Given the description of an element on the screen output the (x, y) to click on. 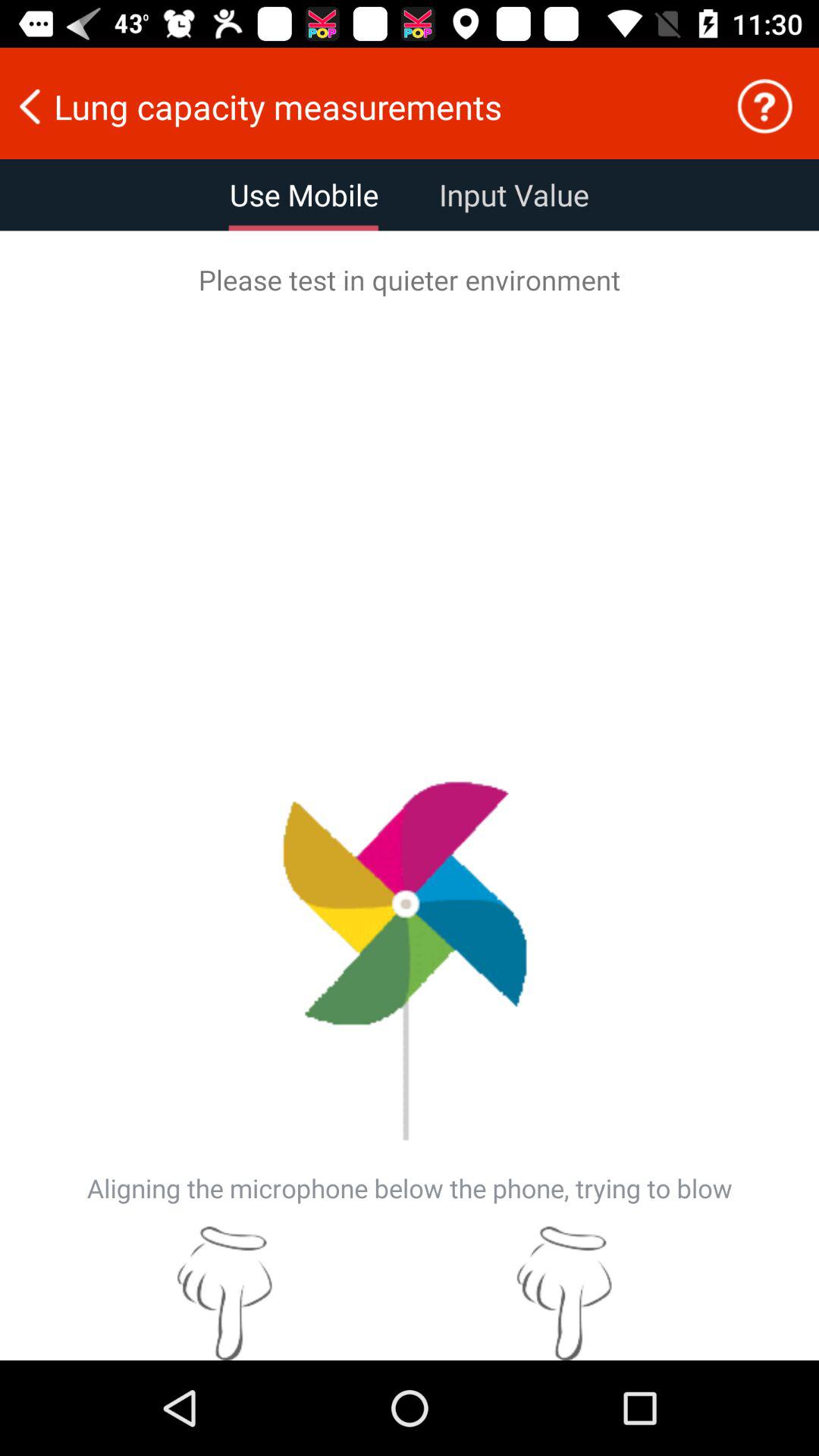
click for help info (764, 106)
